Given the description of an element on the screen output the (x, y) to click on. 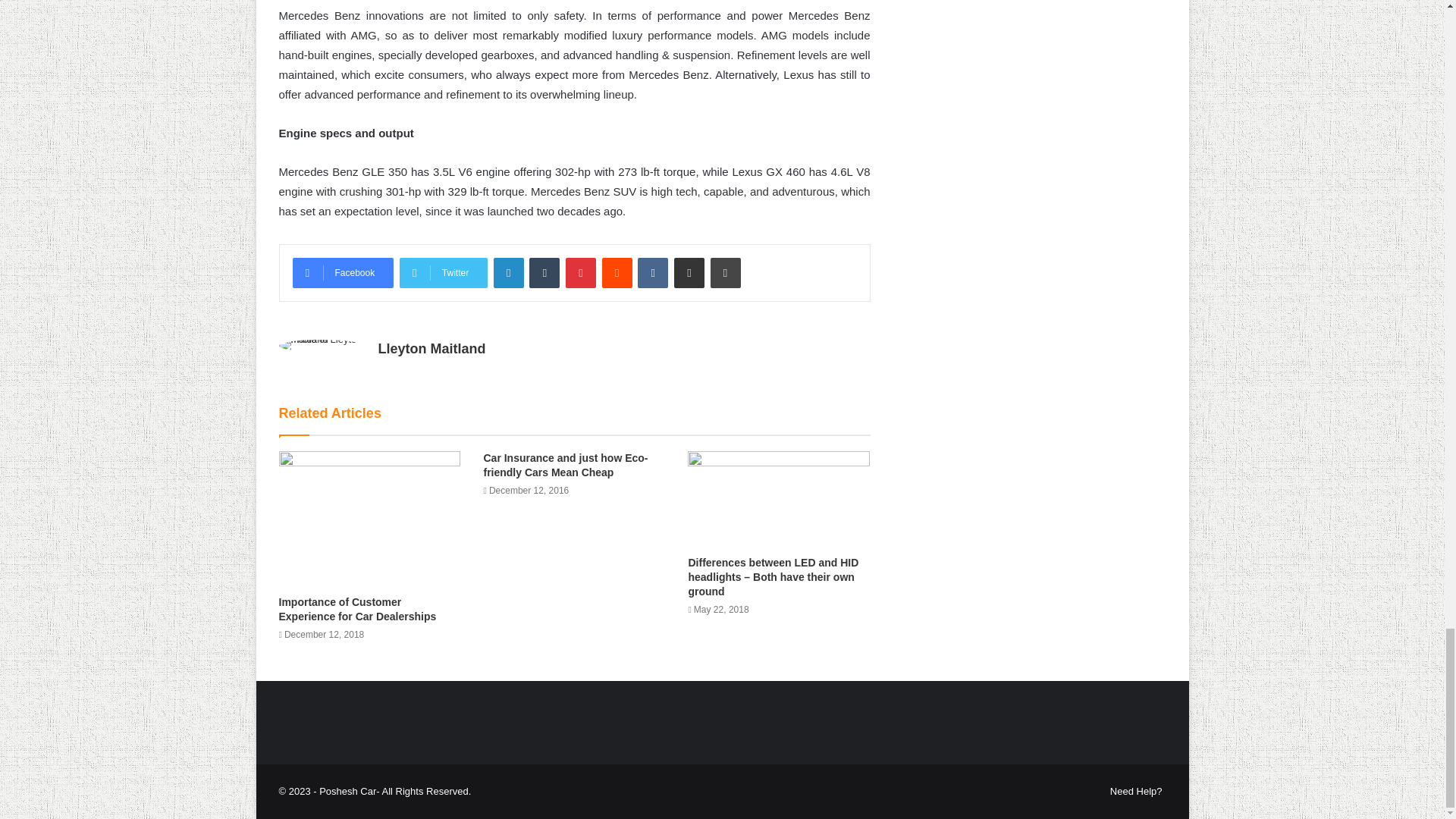
Share via Email (689, 272)
Share via Email (689, 272)
Reddit (616, 272)
LinkedIn (508, 272)
Pinterest (580, 272)
Importance of Customer Experience for Car Dealerships (357, 609)
Tumblr (544, 272)
Reddit (616, 272)
Facebook (343, 272)
VKontakte (652, 272)
Twitter (442, 272)
Pinterest (580, 272)
Tumblr (544, 272)
Facebook (343, 272)
Twitter (442, 272)
